Given the description of an element on the screen output the (x, y) to click on. 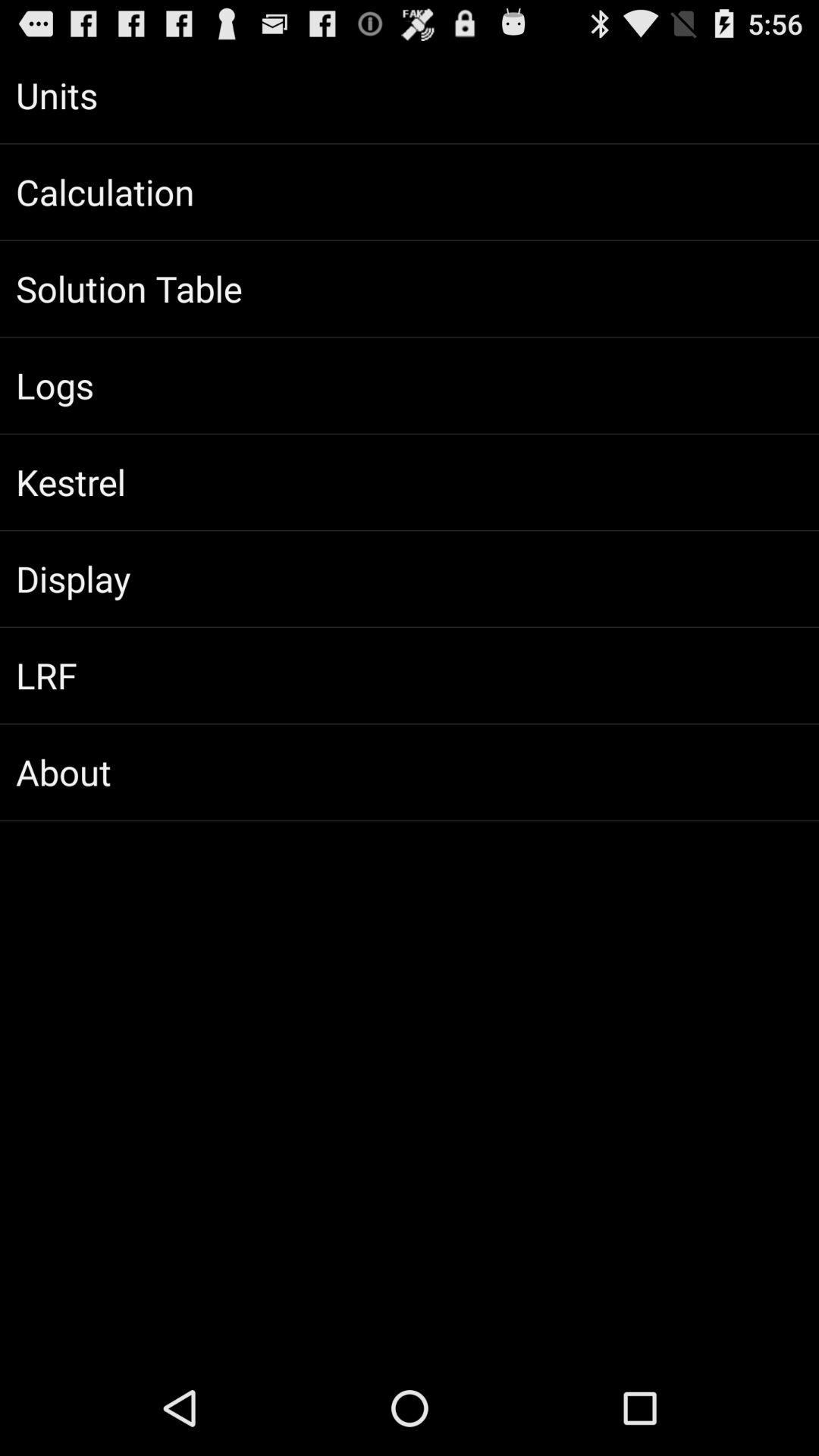
select app above the calculation icon (409, 95)
